Given the description of an element on the screen output the (x, y) to click on. 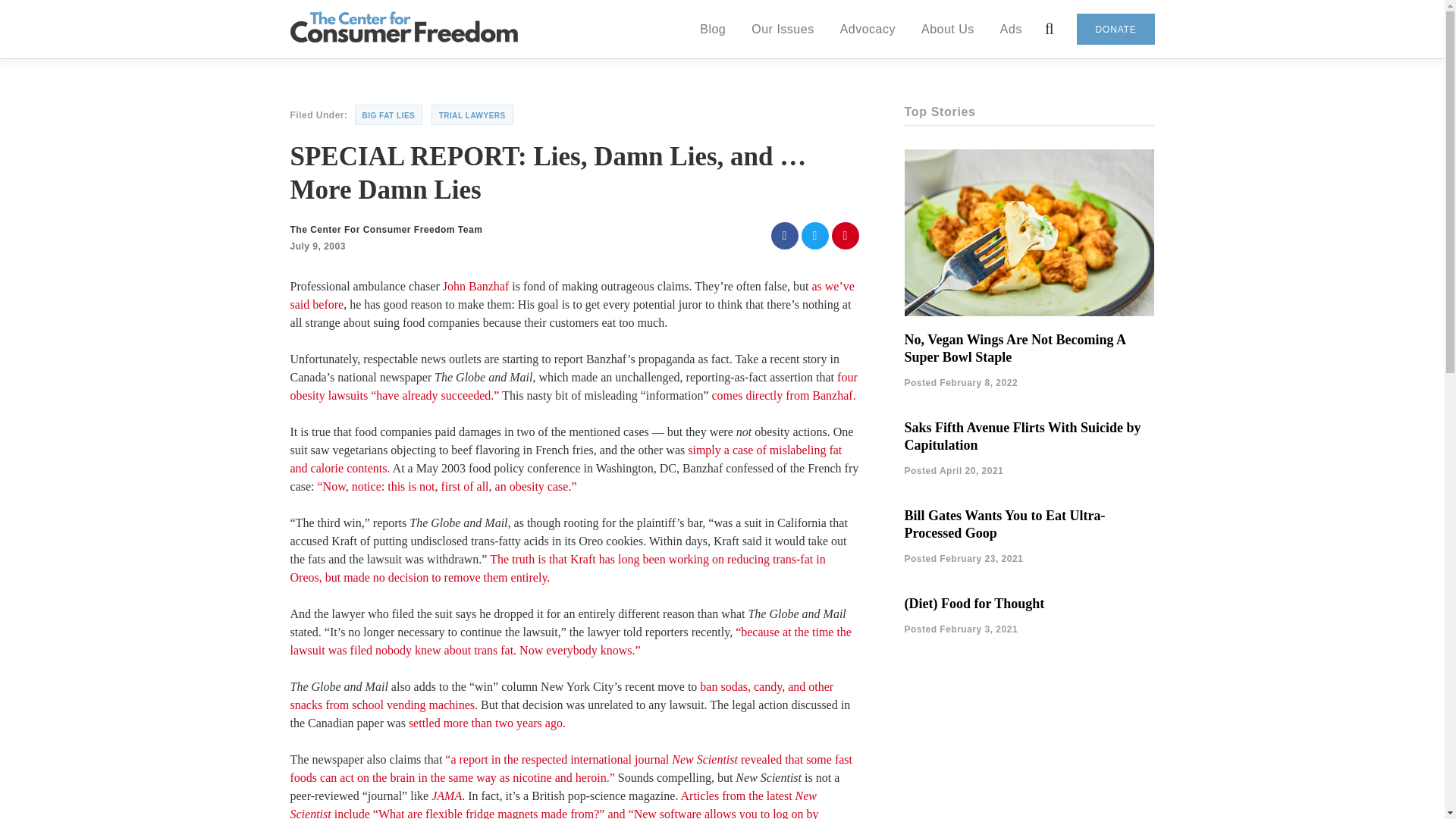
simply a case of mislabeling fat and calorie contents. (565, 459)
TRIAL LAWYERS (471, 114)
BIG FAT LIES (389, 114)
DONATE (1115, 29)
Share on Twitter (814, 235)
John Banzhaf (475, 286)
JAMA (445, 795)
Open Search Modal (1049, 29)
Advocacy (867, 28)
comes directly from Banzhaf. (783, 395)
About Us (947, 28)
Share on Email (845, 235)
Blog (712, 28)
